Given the description of an element on the screen output the (x, y) to click on. 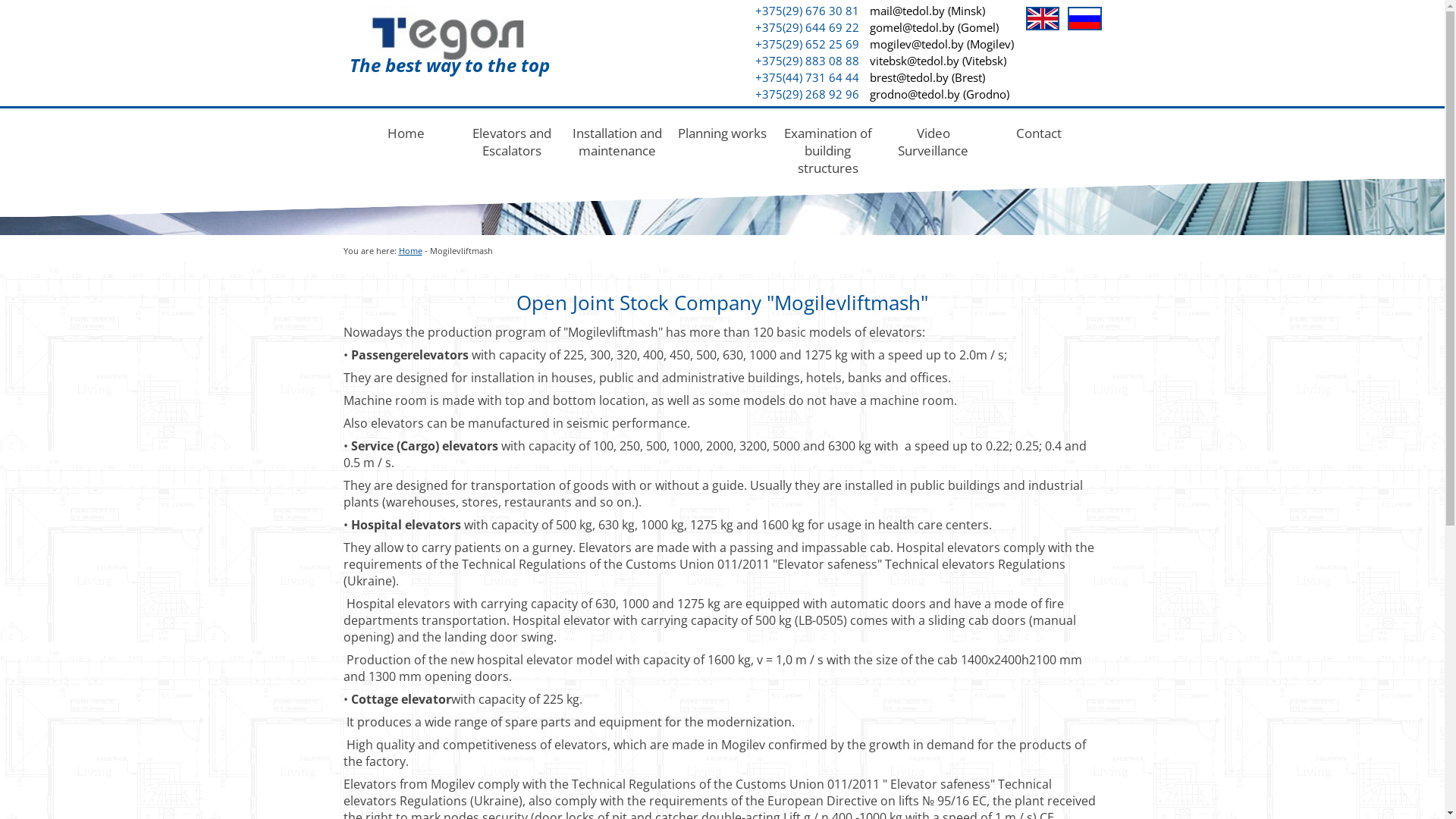
Examination of building structures Element type: text (827, 147)
Planning works Element type: text (722, 130)
Video Surveillance Element type: text (933, 139)
Home Element type: text (405, 130)
Contact Element type: text (1037, 130)
Elevators and Escalators Element type: text (511, 139)
Installation and maintenance Element type: text (616, 139)
Home Element type: text (410, 250)
